Given the description of an element on the screen output the (x, y) to click on. 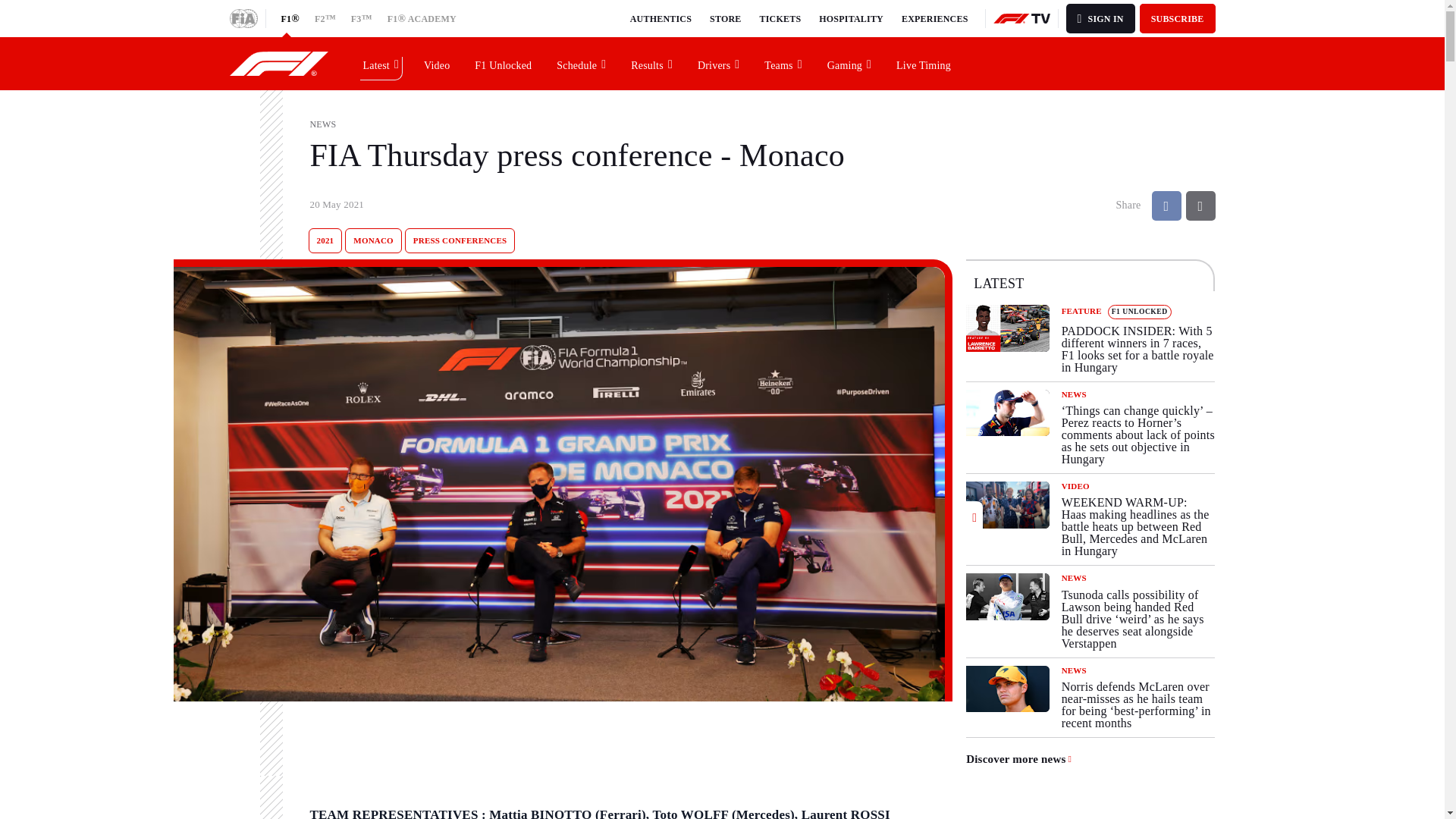
HOSPITALITY (850, 18)
Gaming (849, 63)
Live Timing (923, 63)
Video (437, 63)
MONACO (373, 240)
Results (651, 63)
2021 (324, 240)
SIGN IN (1100, 18)
Drivers (718, 63)
STORE (725, 18)
F1 Unlocked (503, 63)
Teams (782, 63)
SUBSCRIBE (1177, 18)
Discover more news (1018, 758)
